Given the description of an element on the screen output the (x, y) to click on. 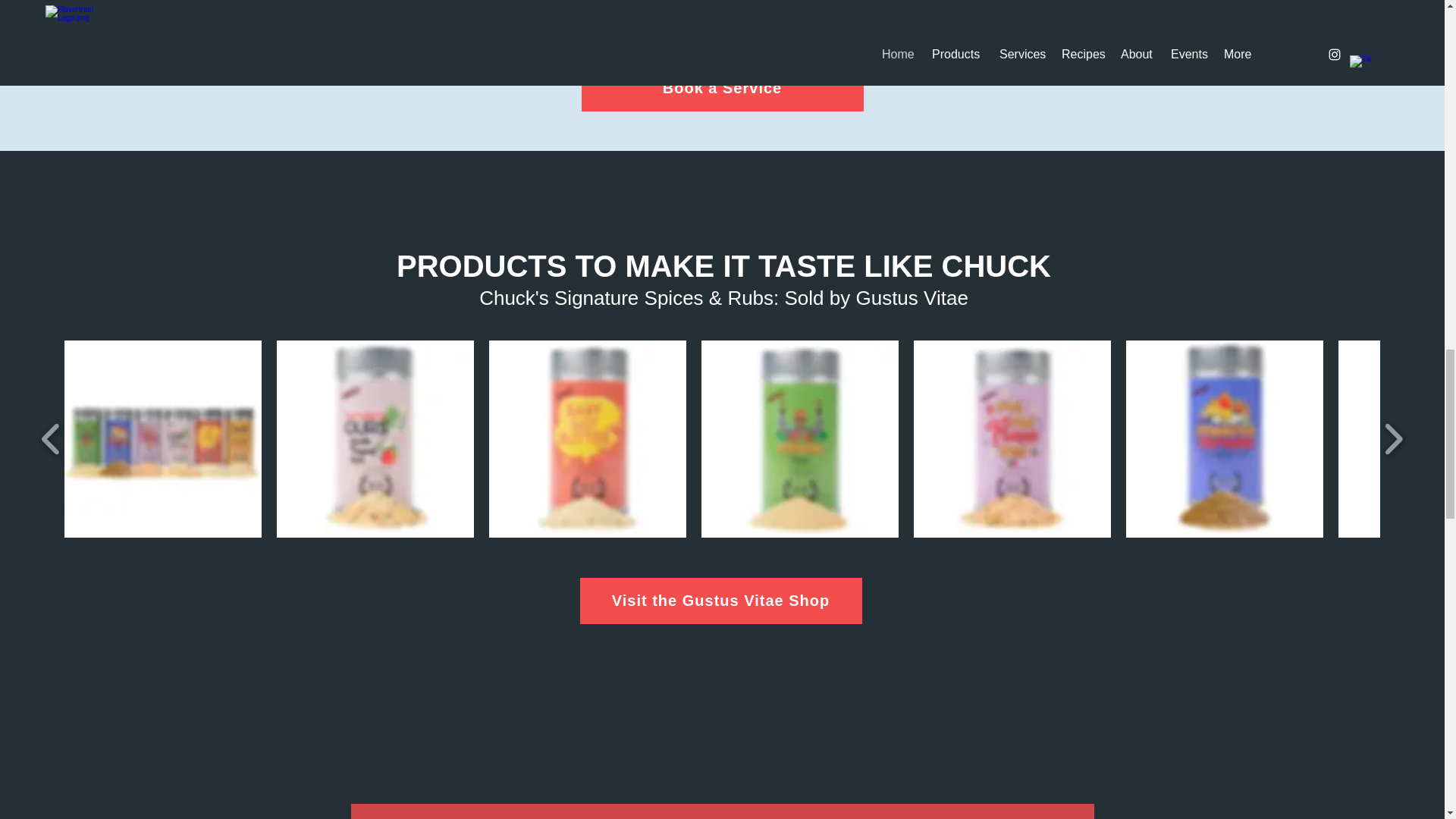
Visit the Gustus Vitae Shop (720, 601)
Book a Service (721, 88)
